Given the description of an element on the screen output the (x, y) to click on. 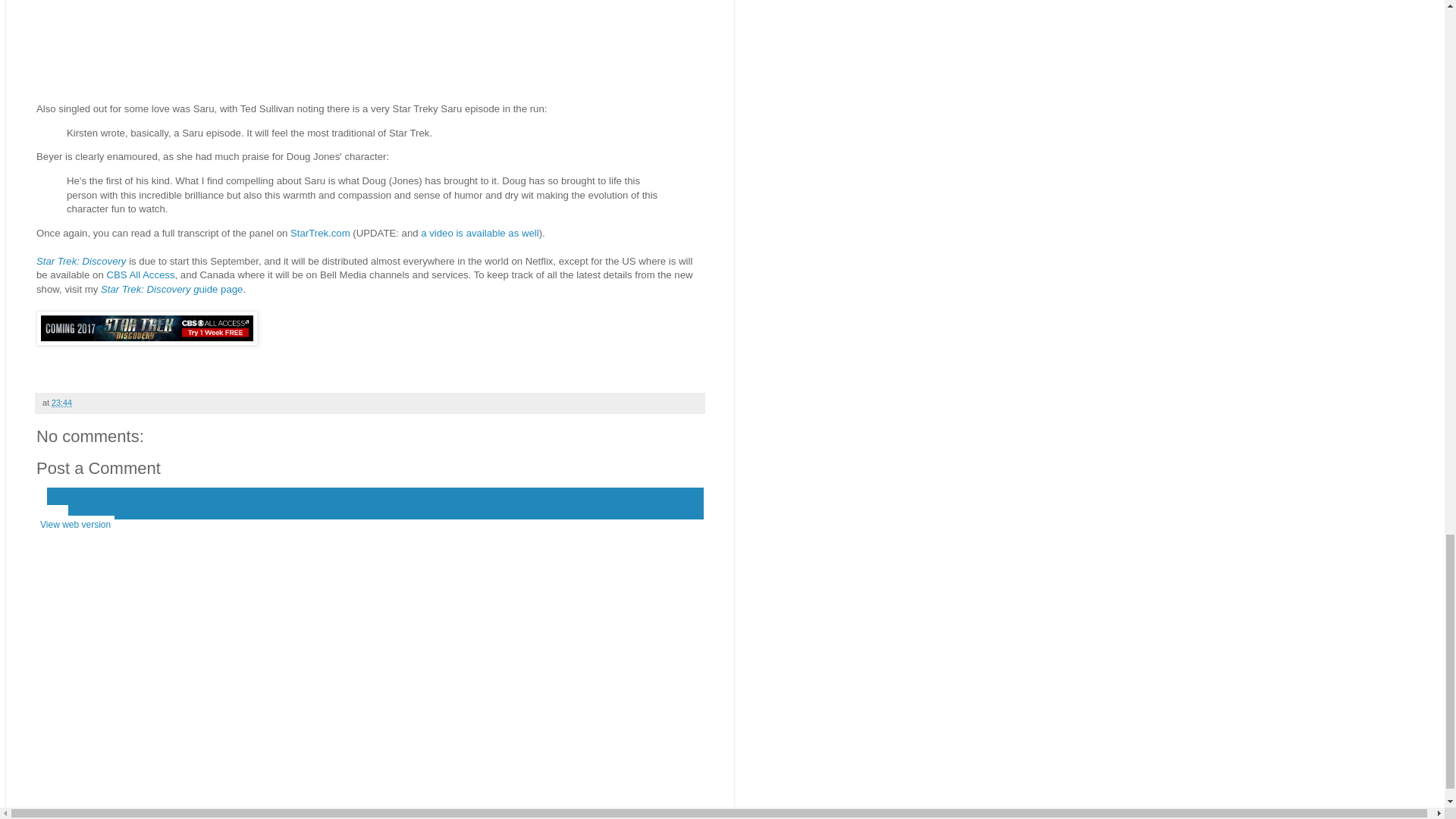
23:44 (60, 402)
a video is available as well (479, 233)
Advertisement (369, 47)
StarTrek.com (319, 233)
permanent link (60, 402)
Home (52, 514)
Star Trek: Discovery (80, 260)
Star Trek: Discovery guide page (171, 288)
Blogger (393, 811)
View web version (75, 524)
Post a Comment (98, 467)
CBS All Access (140, 274)
